Given the description of an element on the screen output the (x, y) to click on. 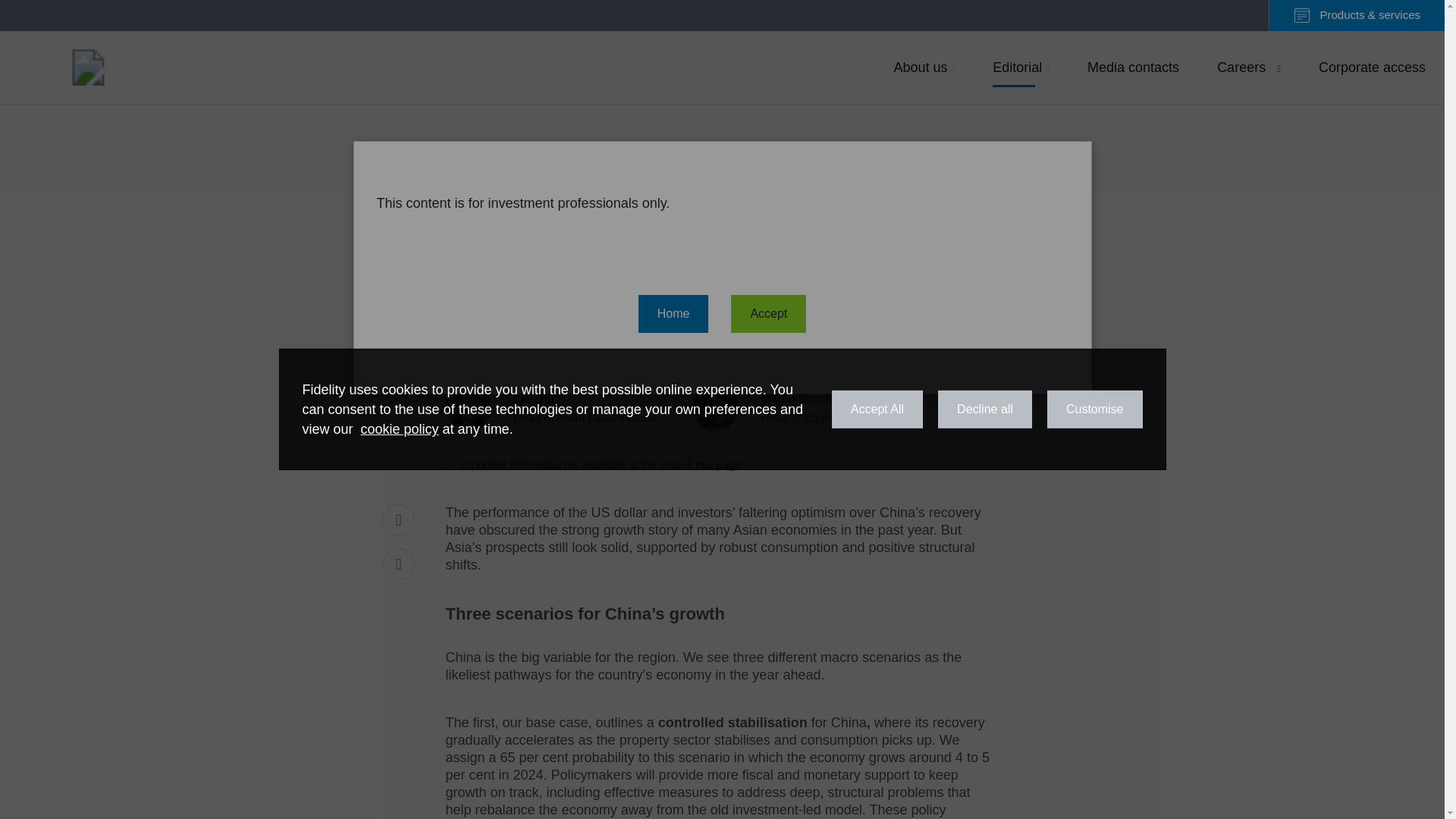
Media contacts (560, 408)
Corporate access (1133, 66)
Lei Zhu (1372, 66)
disclaimer (560, 408)
Fidelity International Logo (800, 408)
Careers (593, 463)
Martin Dropkin (88, 67)
About us (1248, 66)
